Given the description of an element on the screen output the (x, y) to click on. 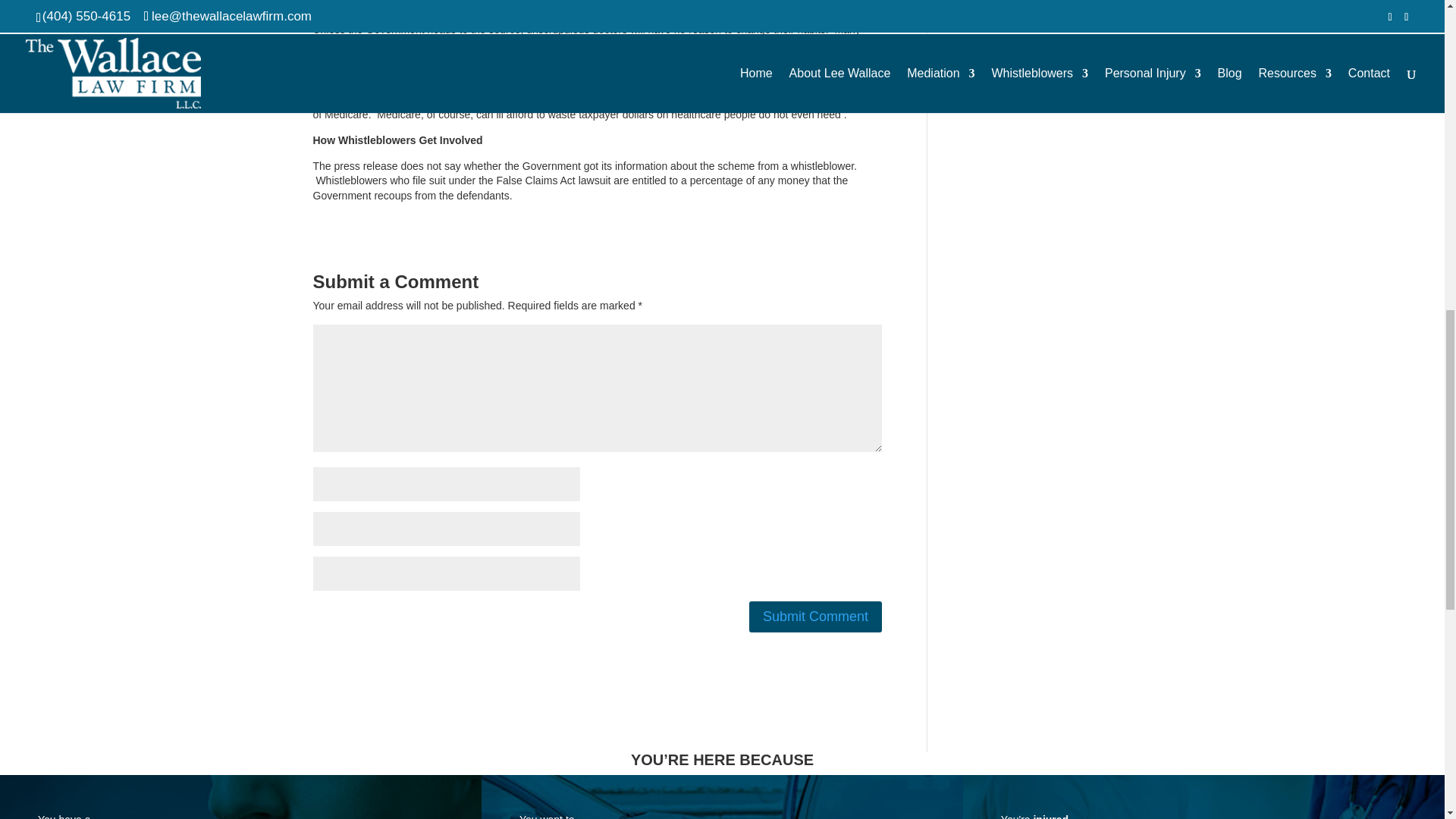
Submit Comment (815, 616)
